Given the description of an element on the screen output the (x, y) to click on. 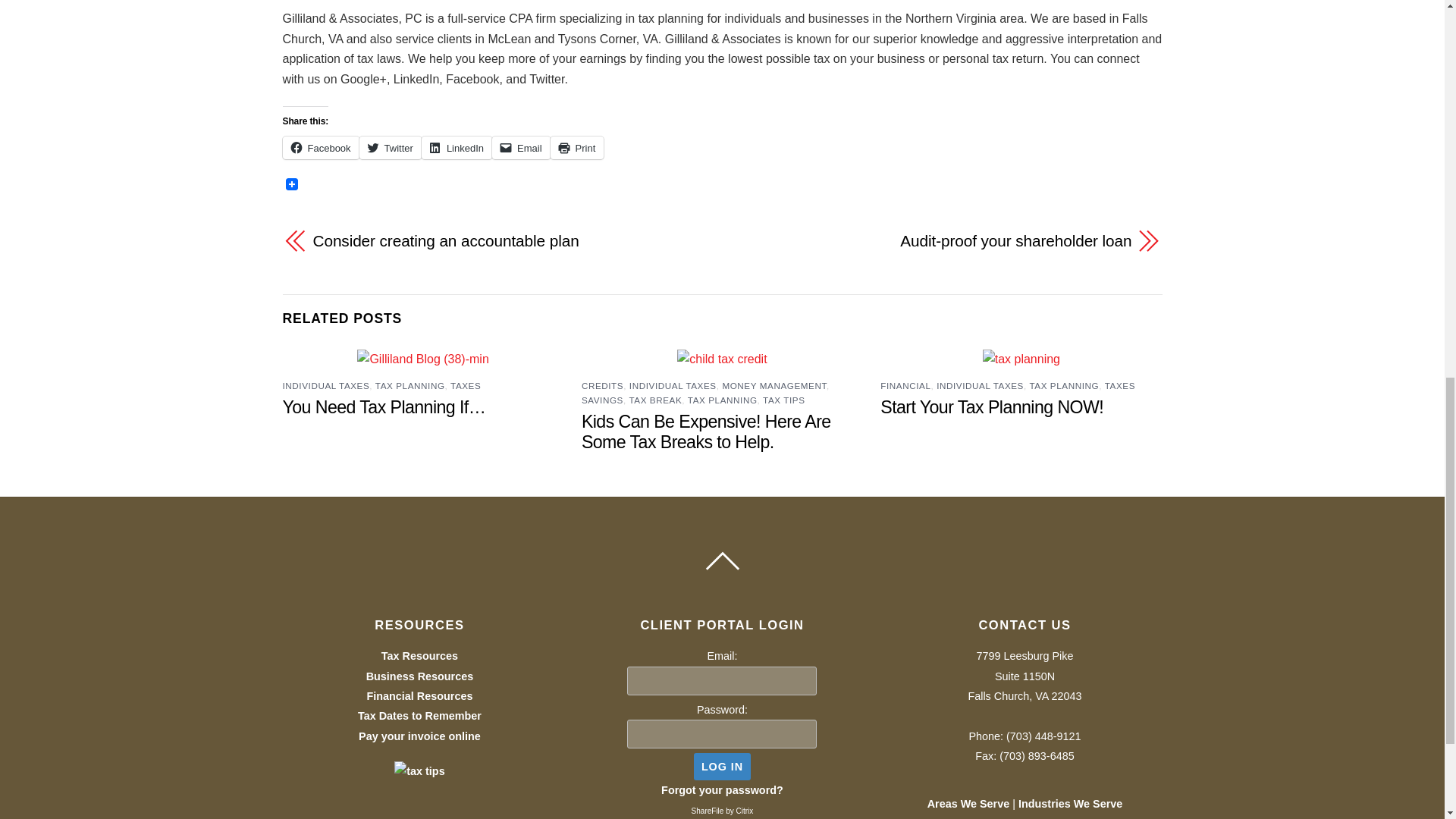
Click to print (577, 147)
Start Your Tax Planning NOW! (991, 406)
Click to share on Facebook (320, 147)
Click to email a link to a friend (521, 147)
Click to share on Twitter (390, 147)
Click to share on LinkedIn (457, 147)
Log In (722, 766)
Facebook (320, 147)
Kids Can Be Expensive! Here Are Some Tax Breaks to Help. (705, 431)
